Given the description of an element on the screen output the (x, y) to click on. 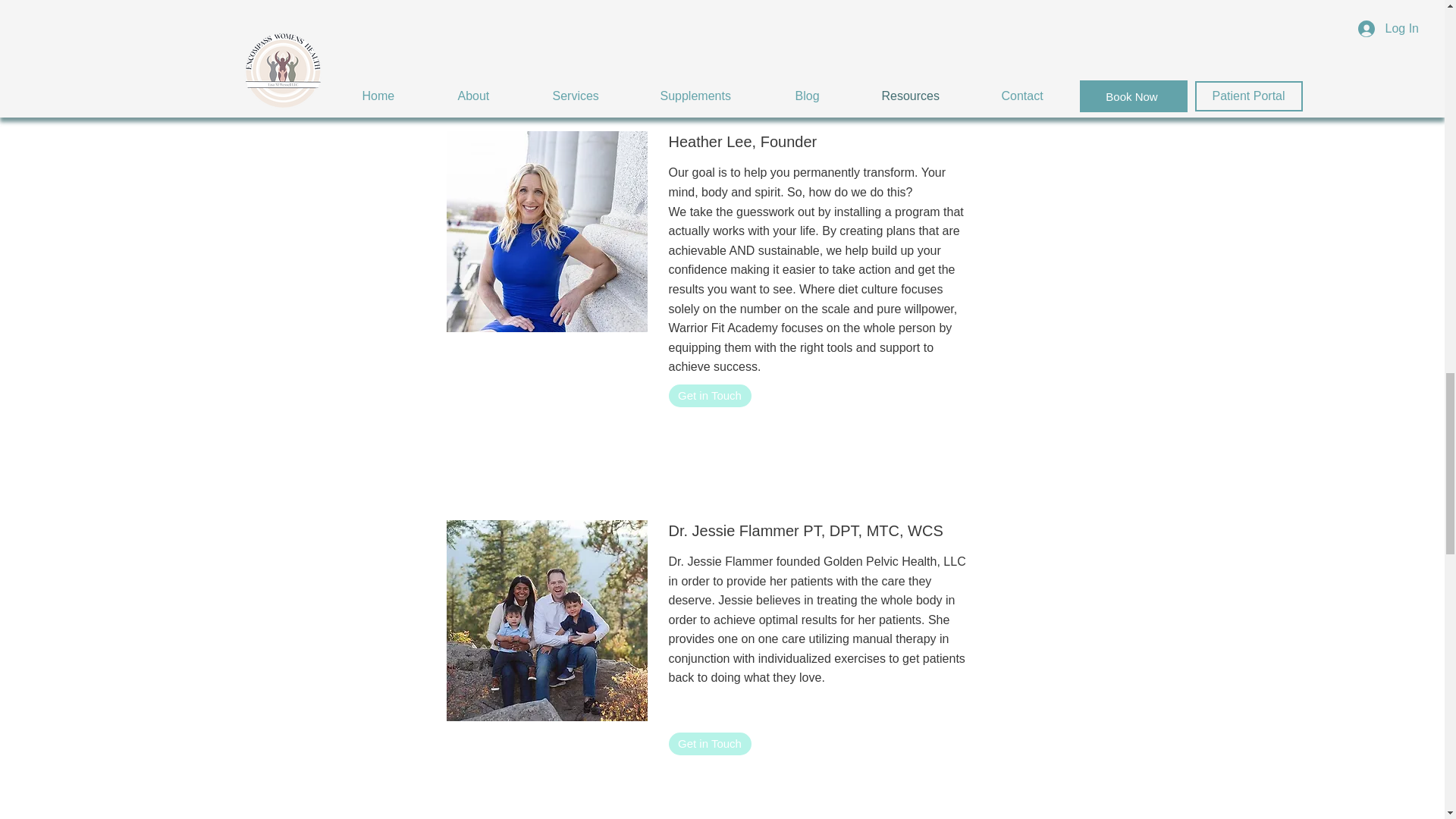
Get in Touch (709, 395)
Get in Touch (709, 743)
Get in Touch (709, 9)
